Given the description of an element on the screen output the (x, y) to click on. 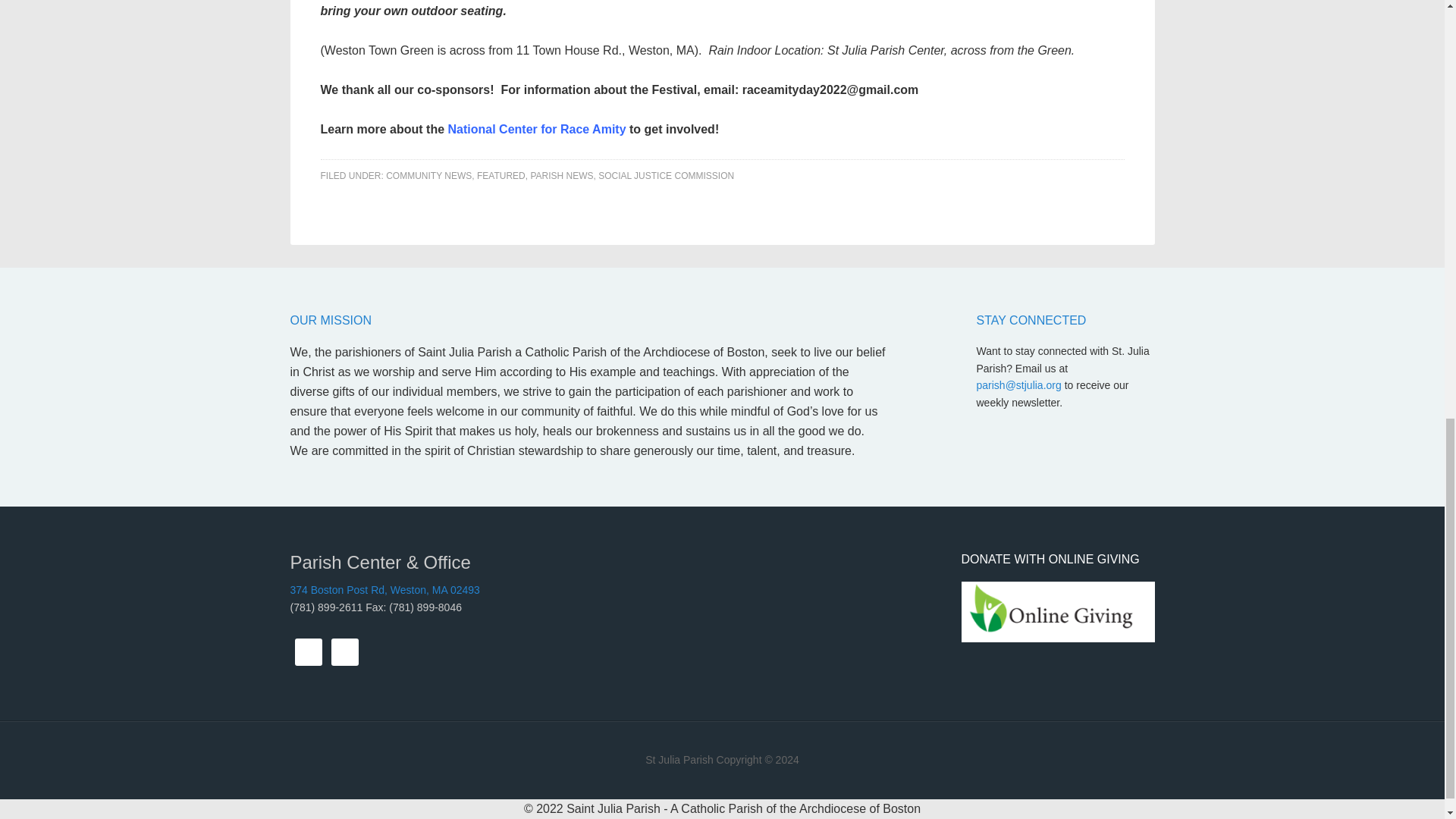
Page 1 (722, 69)
